Given the description of an element on the screen output the (x, y) to click on. 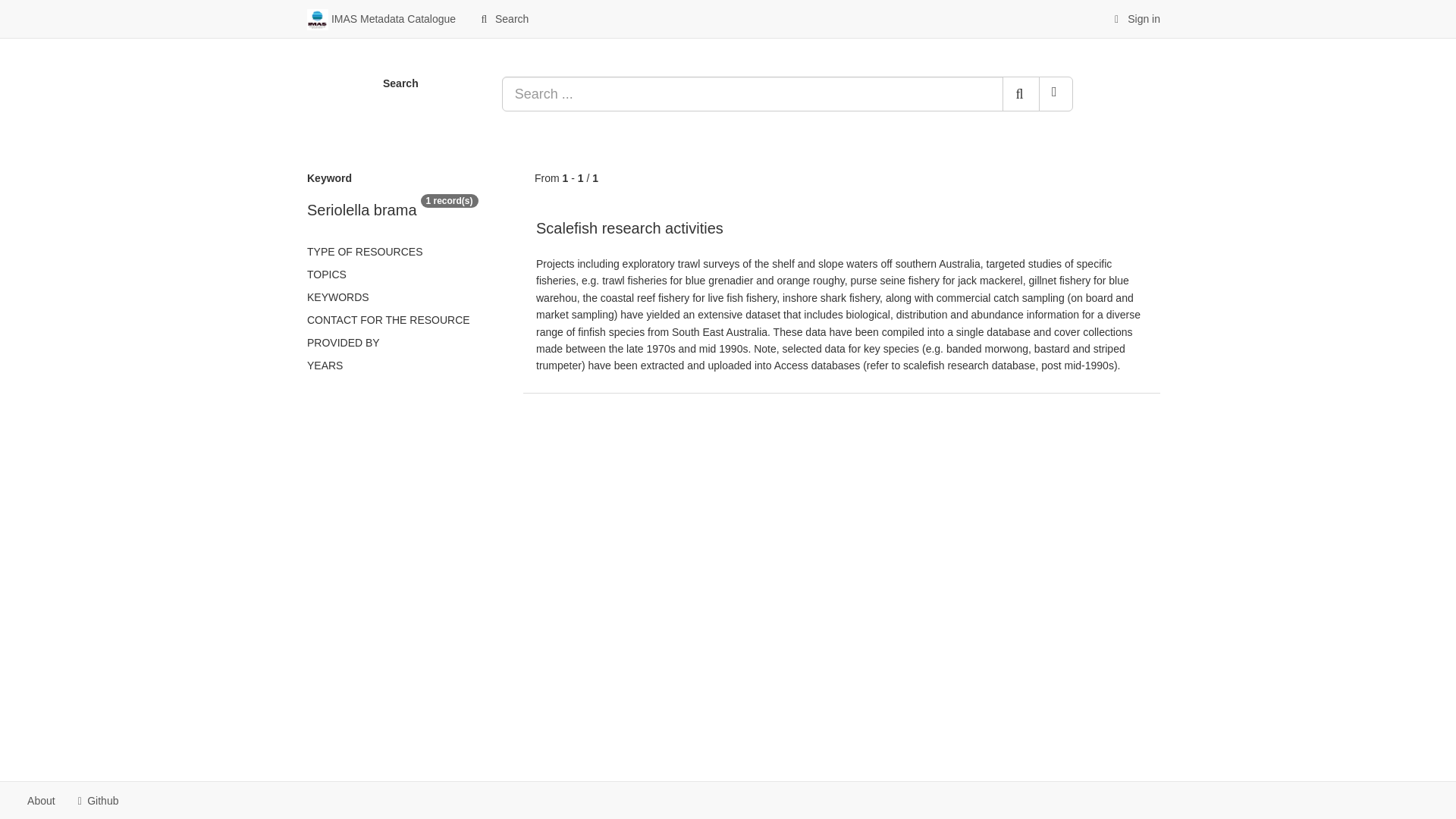
Sign in (1135, 18)
  Search (503, 18)
  Sign in (1135, 18)
IMAS Metadata Catalogue (381, 18)
Search (503, 18)
Search (1021, 93)
Scalefish research activities (629, 228)
Reset (1056, 93)
